Given the description of an element on the screen output the (x, y) to click on. 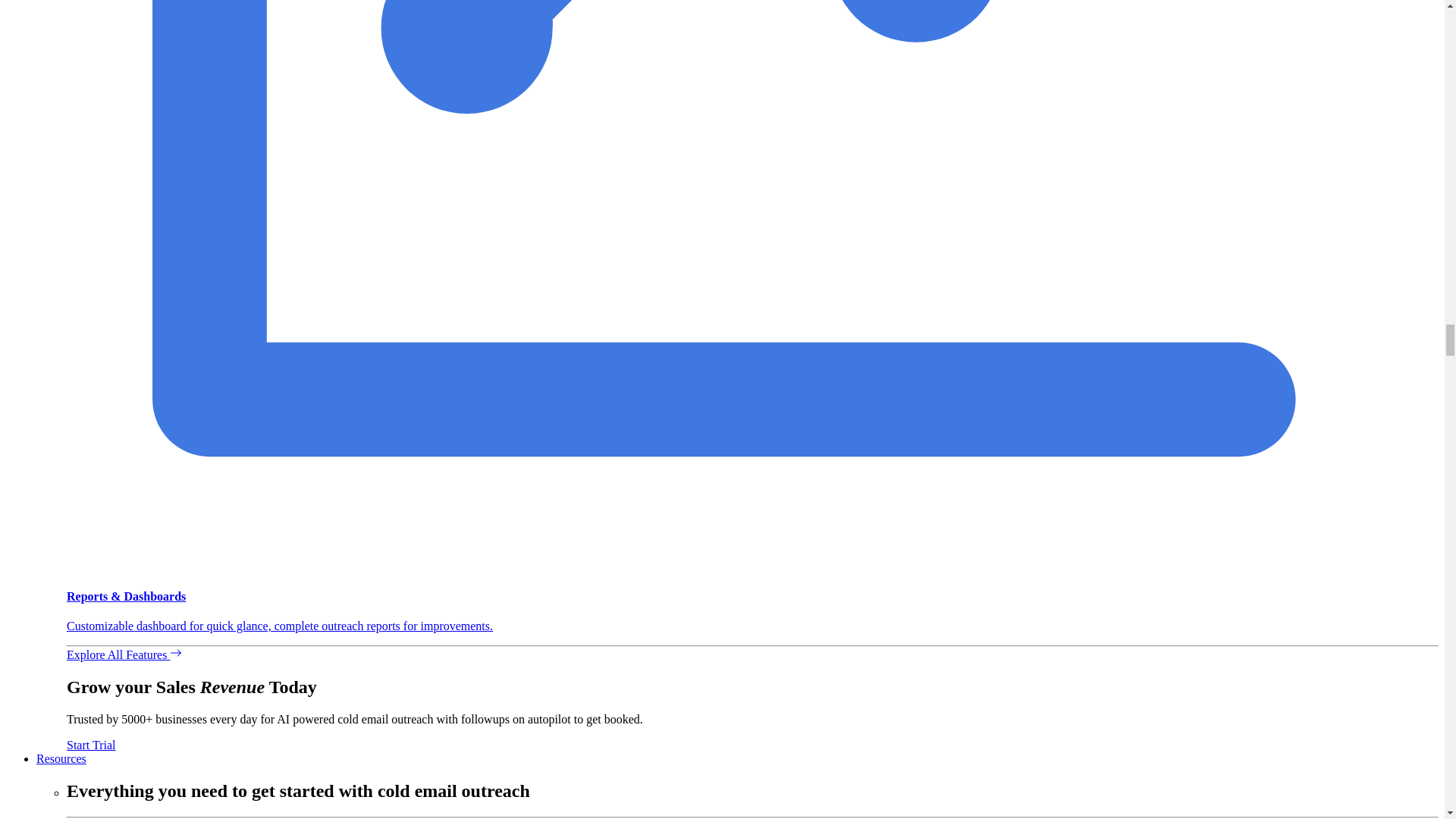
Resources (60, 758)
Explore All Features (124, 654)
Start Trial (90, 744)
